Given the description of an element on the screen output the (x, y) to click on. 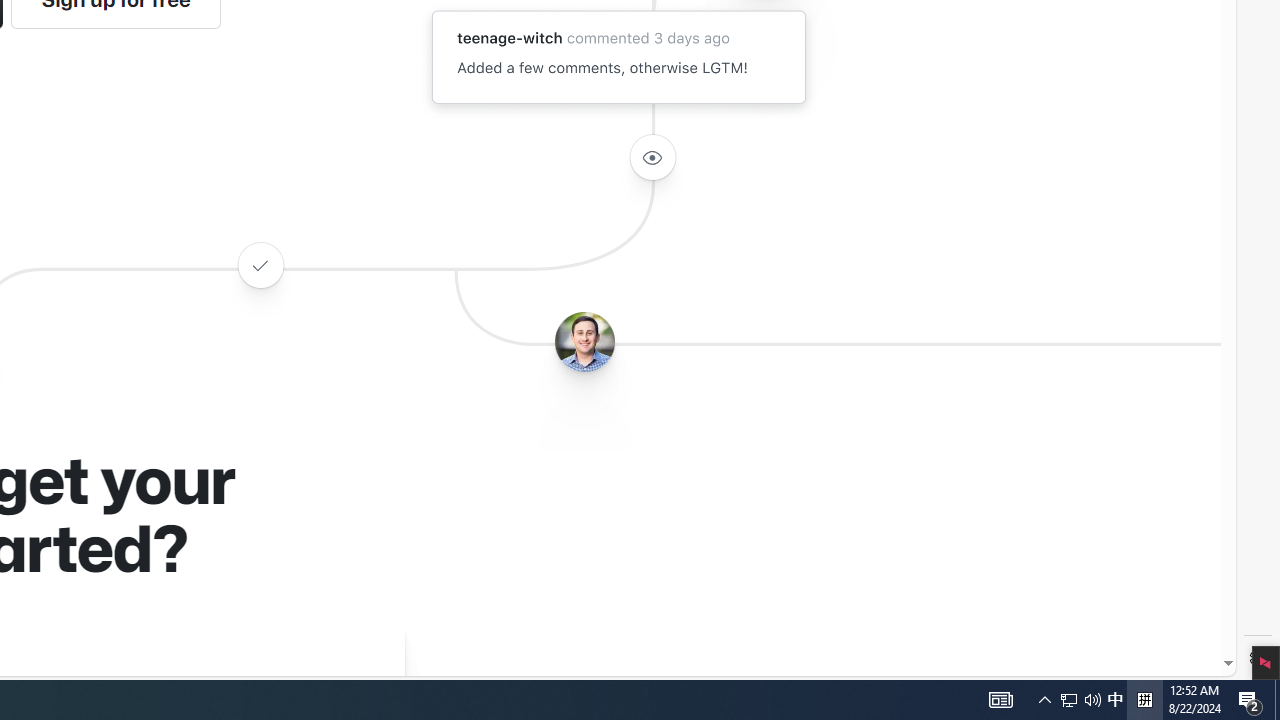
Class: color-fg-muted width-full (260, 264)
Avatar of the user benbalter (584, 341)
